Given the description of an element on the screen output the (x, y) to click on. 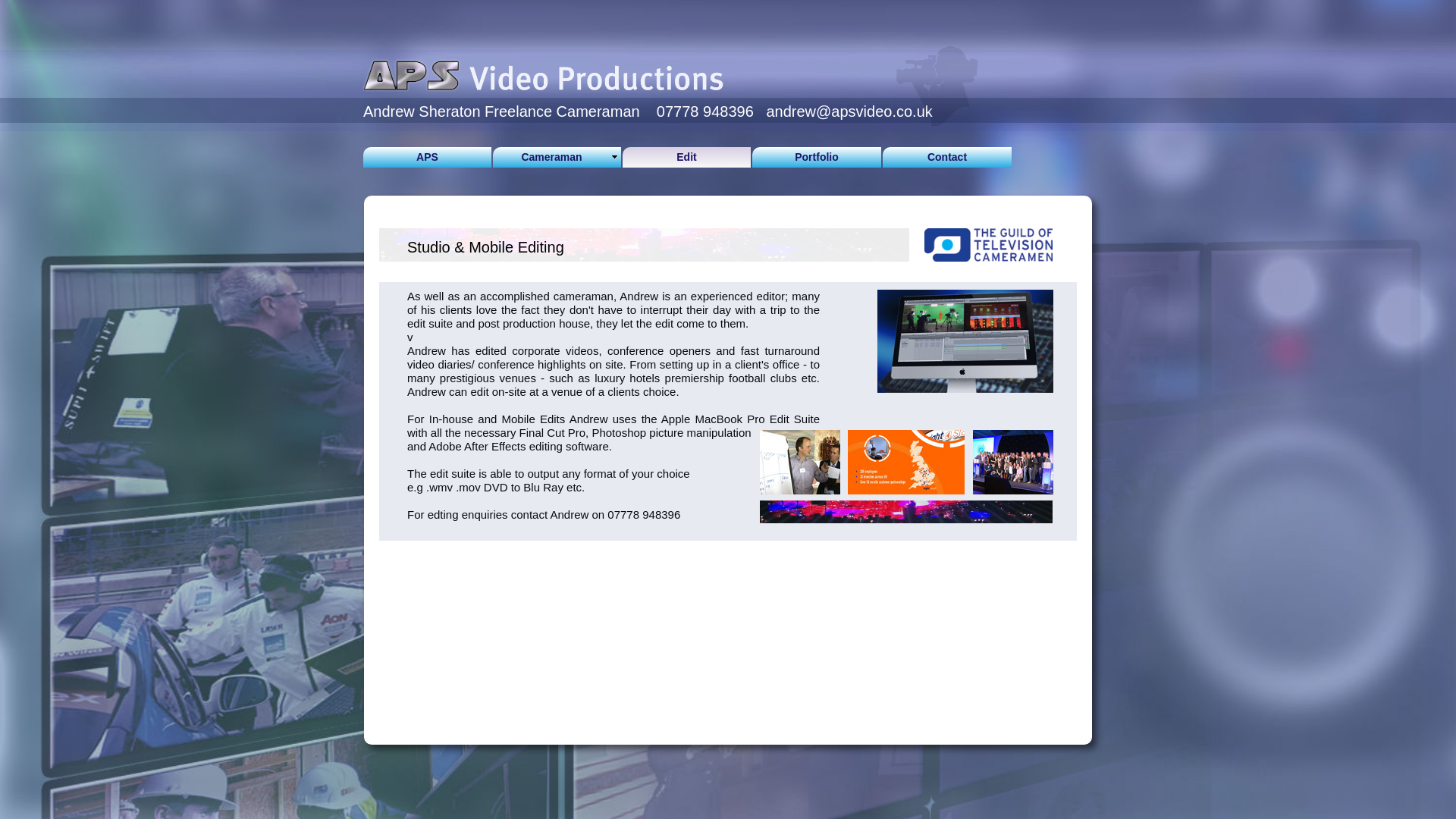
Cameraman (557, 157)
APS (427, 157)
Edit (687, 157)
Contact (946, 157)
Portfolio (816, 157)
